Given the description of an element on the screen output the (x, y) to click on. 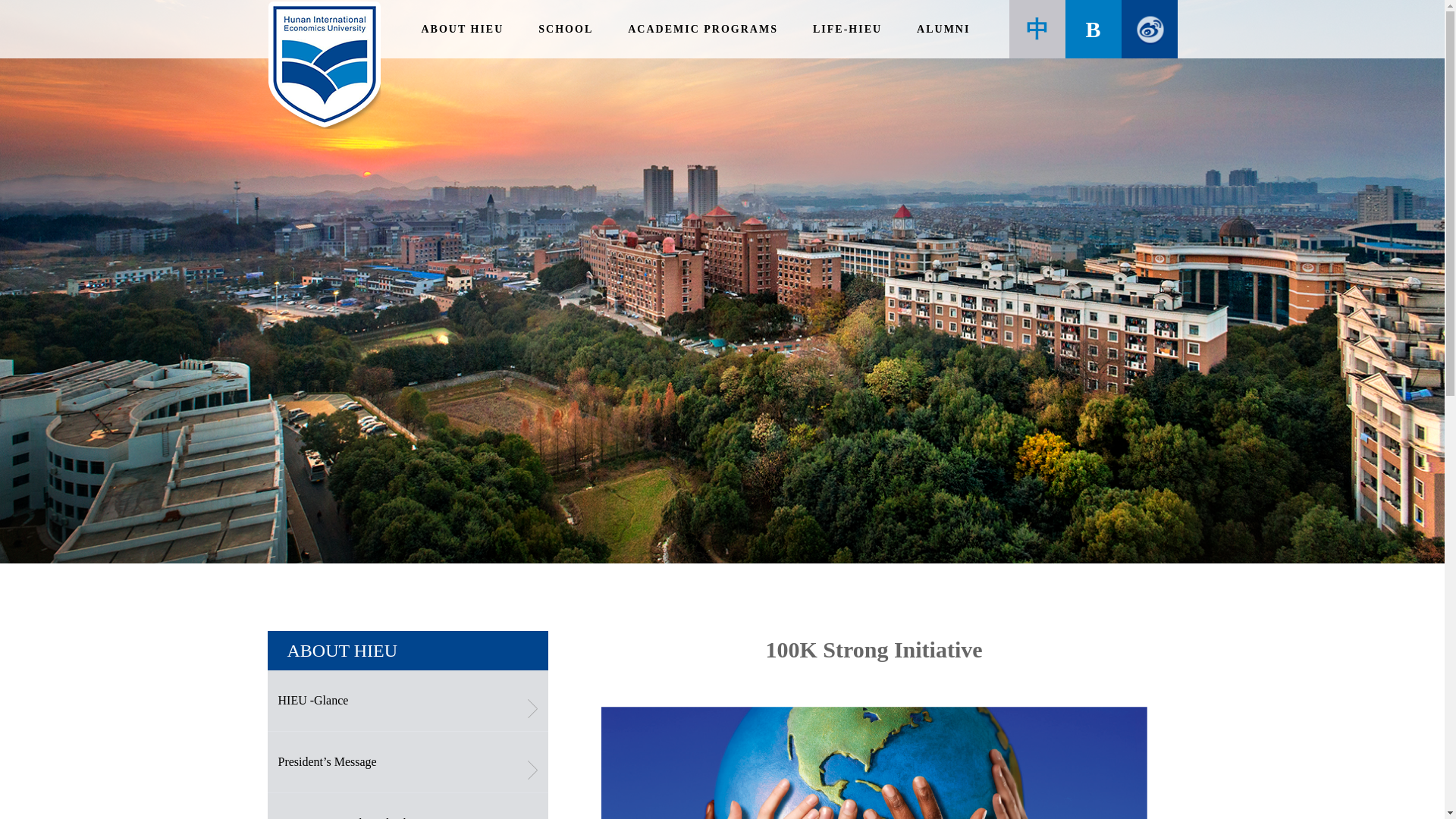
ACADEMIC PROGRAMS (702, 29)
LIFE-HIEU (847, 29)
ABOUT HIEU (462, 29)
SCHOOL (565, 29)
ABOUT HIEU (341, 650)
ALUMNI (943, 29)
HIEU -Glance (406, 701)
Management and Leadership (406, 806)
B (1092, 29)
